Given the description of an element on the screen output the (x, y) to click on. 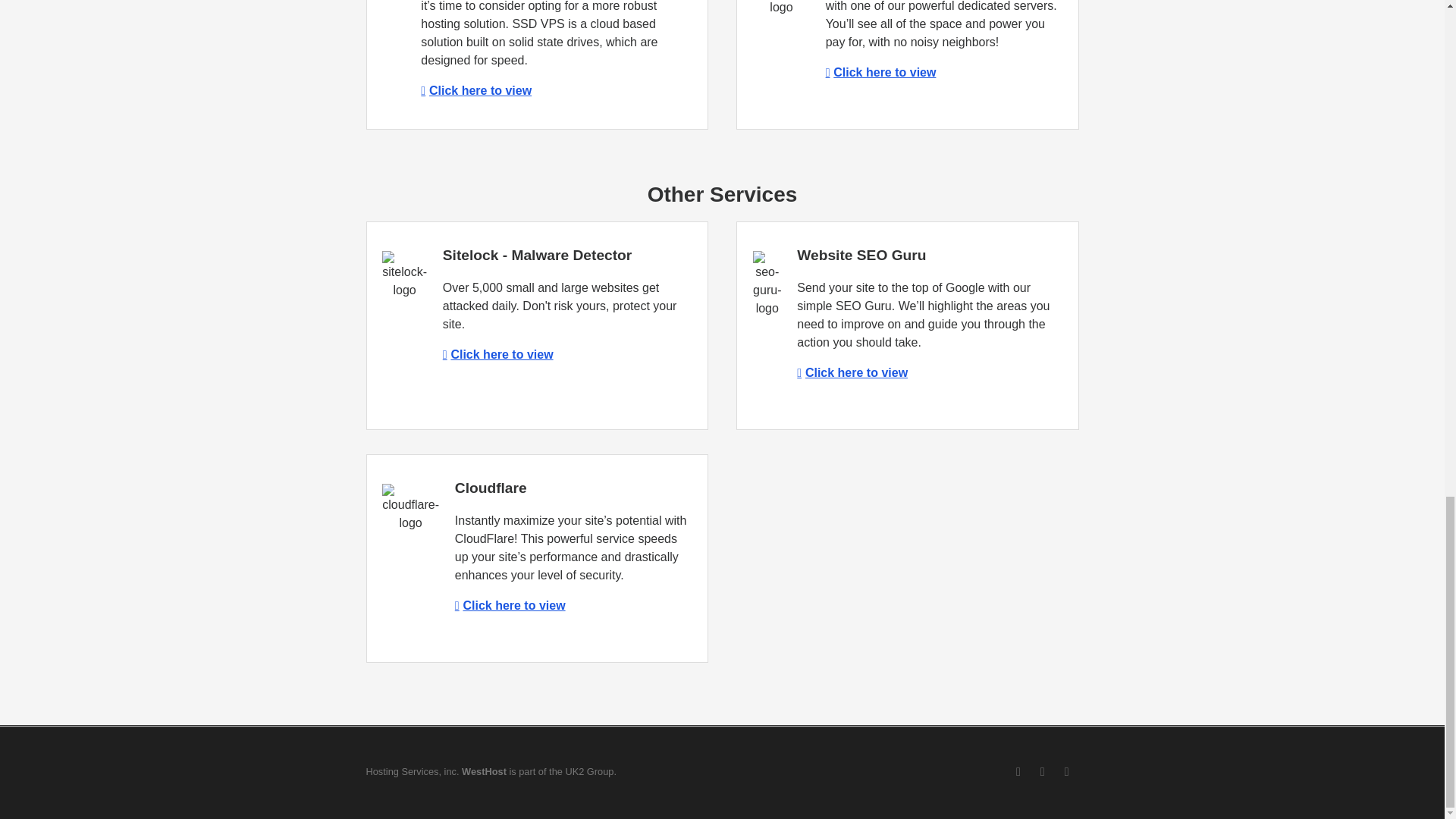
Click here to view (475, 90)
Click here to view (510, 604)
Click here to view (851, 372)
WestHost (483, 771)
Click here to view (497, 354)
Click here to view (880, 72)
